Given the description of an element on the screen output the (x, y) to click on. 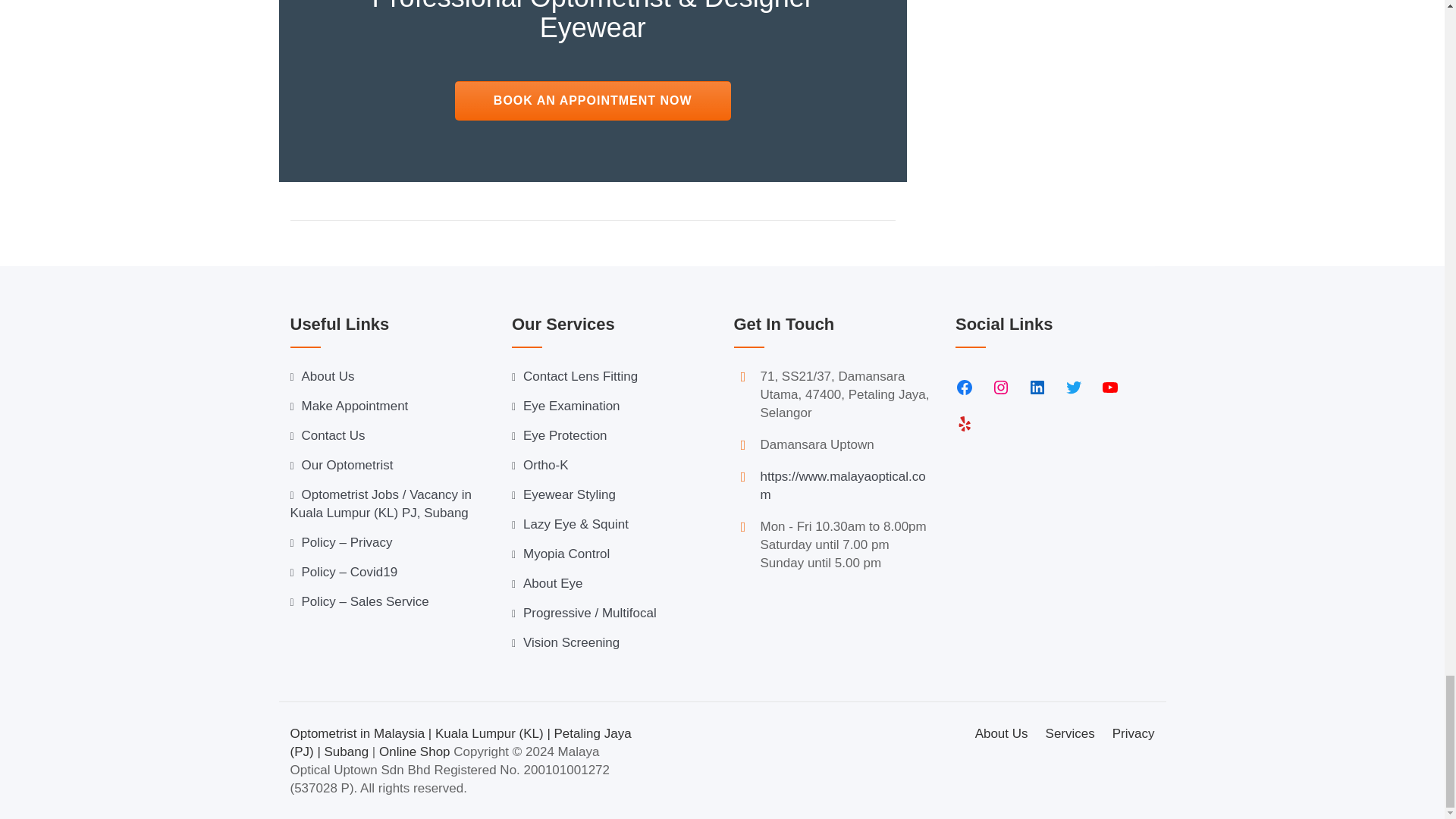
Book an Appointment (592, 100)
